Given the description of an element on the screen output the (x, y) to click on. 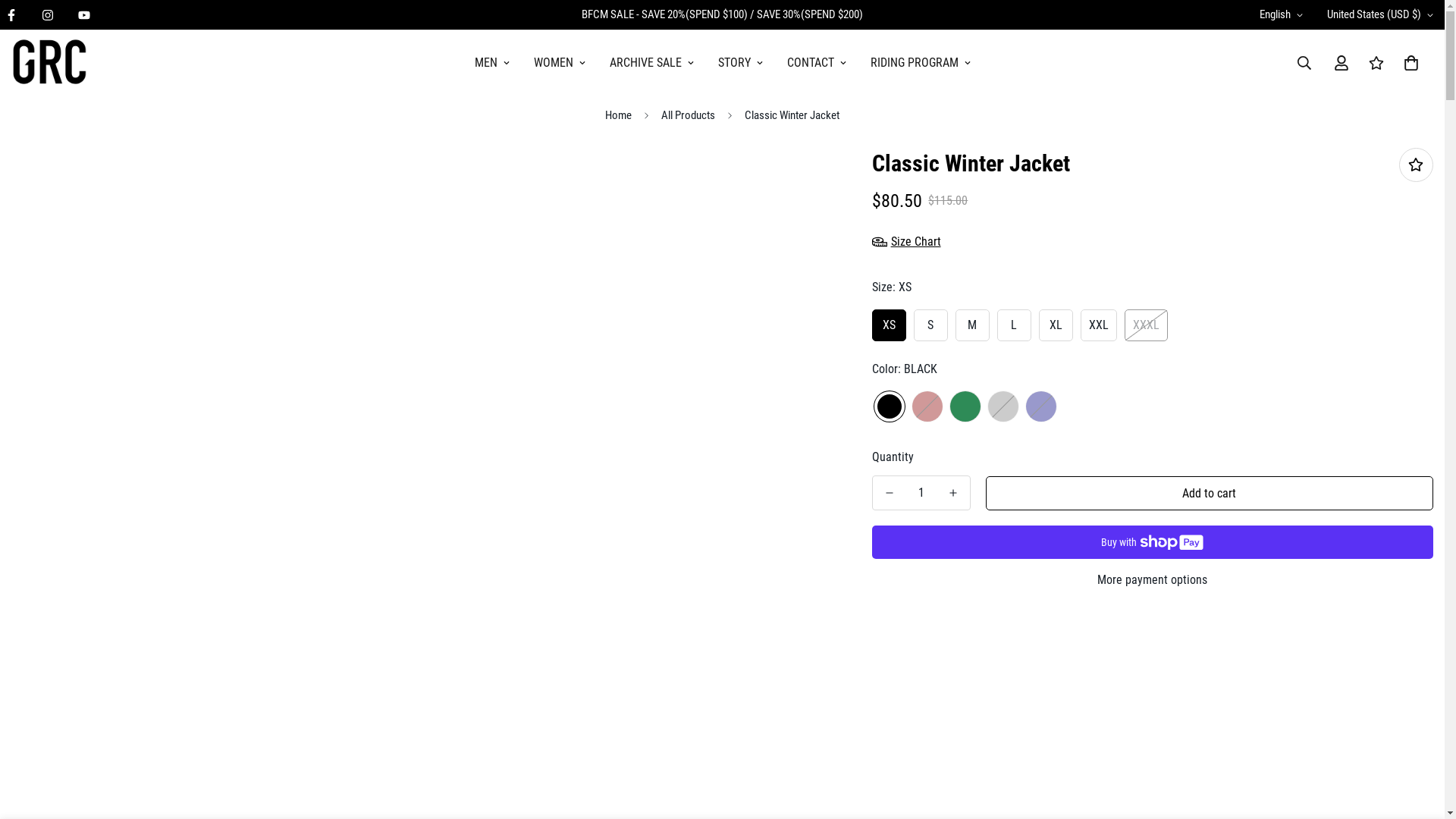
GRC Cycling Apparel Element type: hover (49, 62)
RIDING PROGRAM Element type: text (920, 62)
CONTACT Element type: text (816, 62)
Add to cart Element type: text (1209, 493)
STORY Element type: text (739, 62)
Home Element type: text (618, 115)
More payment options Element type: text (1152, 580)
ARCHIVE SALE Element type: text (651, 62)
All Products Element type: text (687, 115)
WOMEN Element type: text (559, 62)
MEN Element type: text (491, 62)
